Given the description of an element on the screen output the (x, y) to click on. 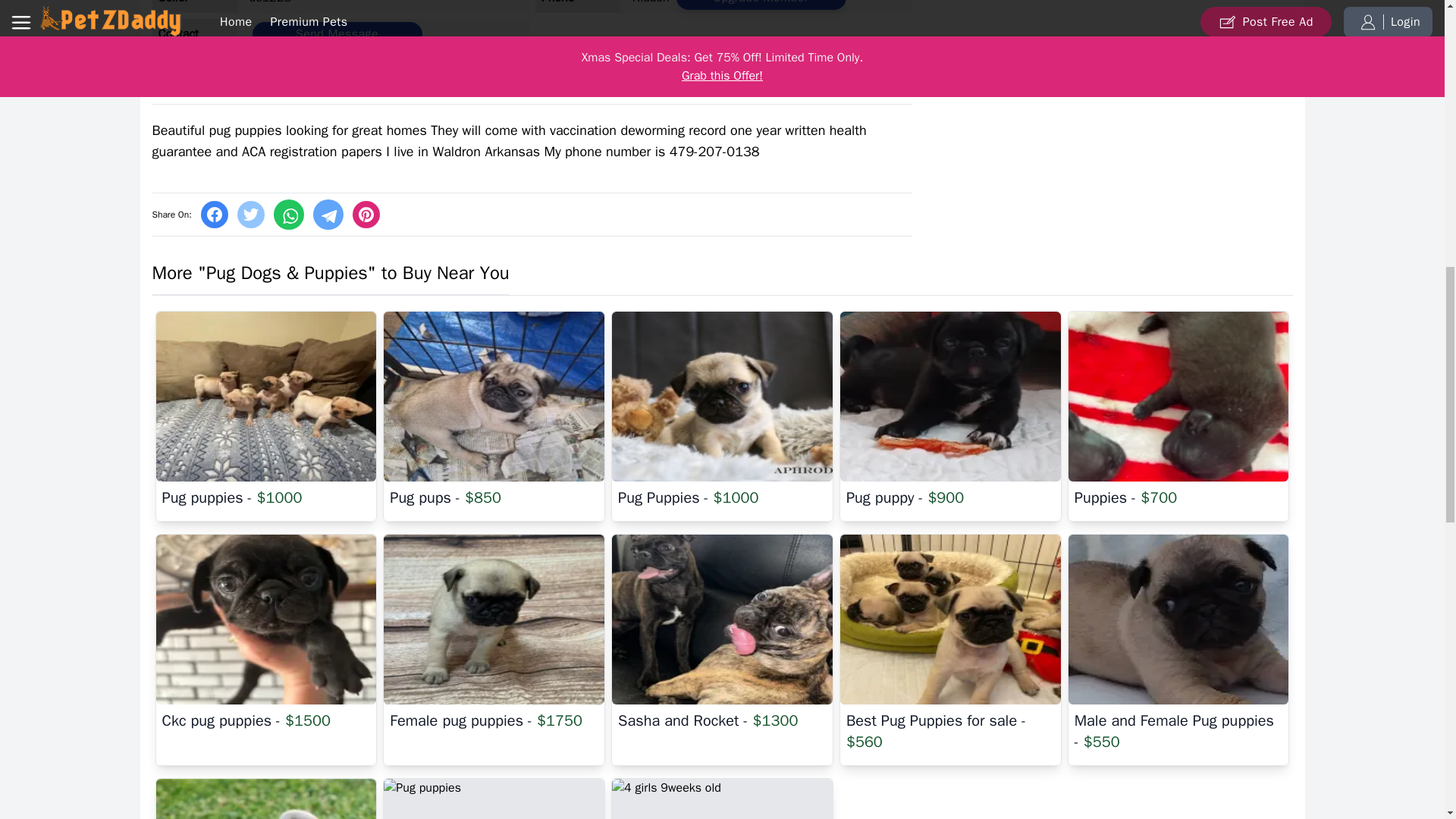
Twitter (250, 214)
Upgrade Member (761, 4)
de1228 (269, 2)
Upgrade Membership to Send Message (336, 33)
Send Message (336, 33)
FaceBook (214, 214)
Upgrade Membership to See Phone Number Details (761, 4)
de1228 (269, 2)
